Given the description of an element on the screen output the (x, y) to click on. 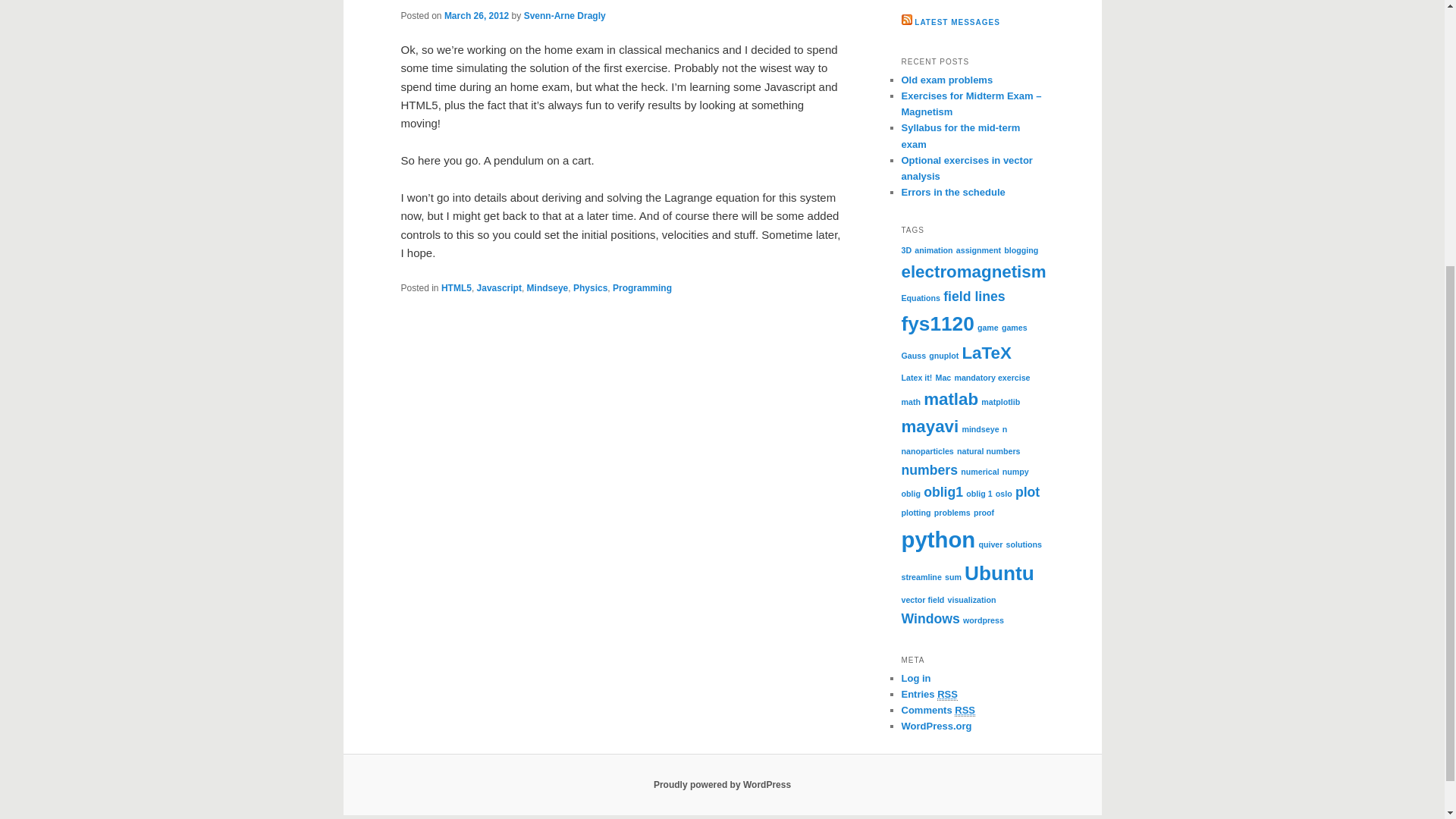
animation (933, 248)
assignment (978, 248)
Mindseye (548, 287)
Optional exercises in vector analysis (966, 167)
Really Simple Syndication (947, 694)
March 26, 2012 (476, 14)
Programming (641, 287)
Posts by Svenn-Arne Dragly (564, 14)
LATEST MESSAGES (957, 22)
Svenn-Arne Dragly (564, 14)
22:22 (476, 14)
Semantic Personal Publishing Platform (721, 784)
Really Simple Syndication (965, 710)
fys1120 (937, 323)
